Given the description of an element on the screen output the (x, y) to click on. 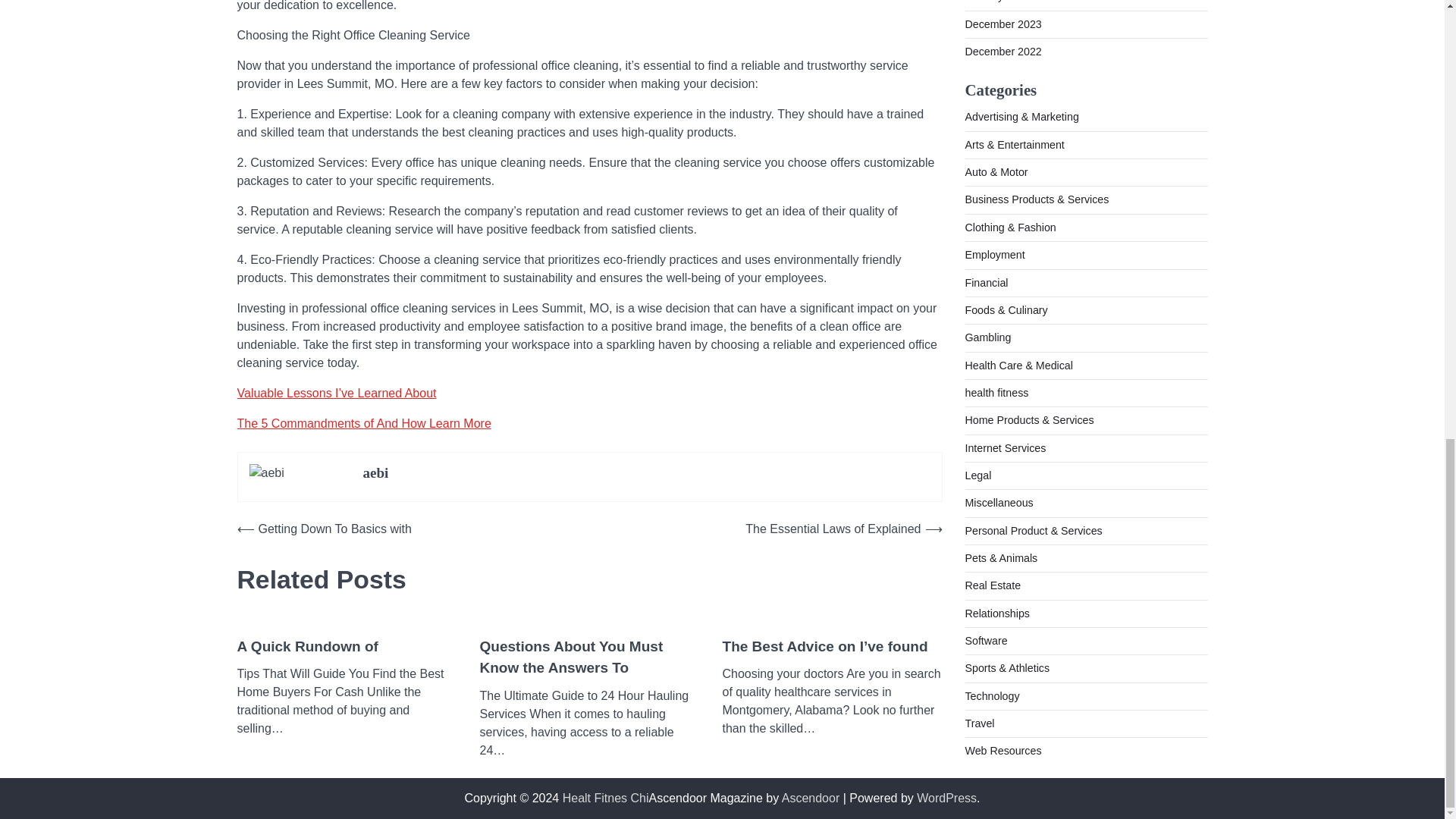
Employment (994, 77)
Financial (985, 105)
The 5 Commandments of And How Learn More (362, 422)
Lessons Learned About (317, 647)
Gambling (986, 159)
Questions About You Must Know the Answers To (588, 657)
Learning The Secrets About (818, 647)
